Given the description of an element on the screen output the (x, y) to click on. 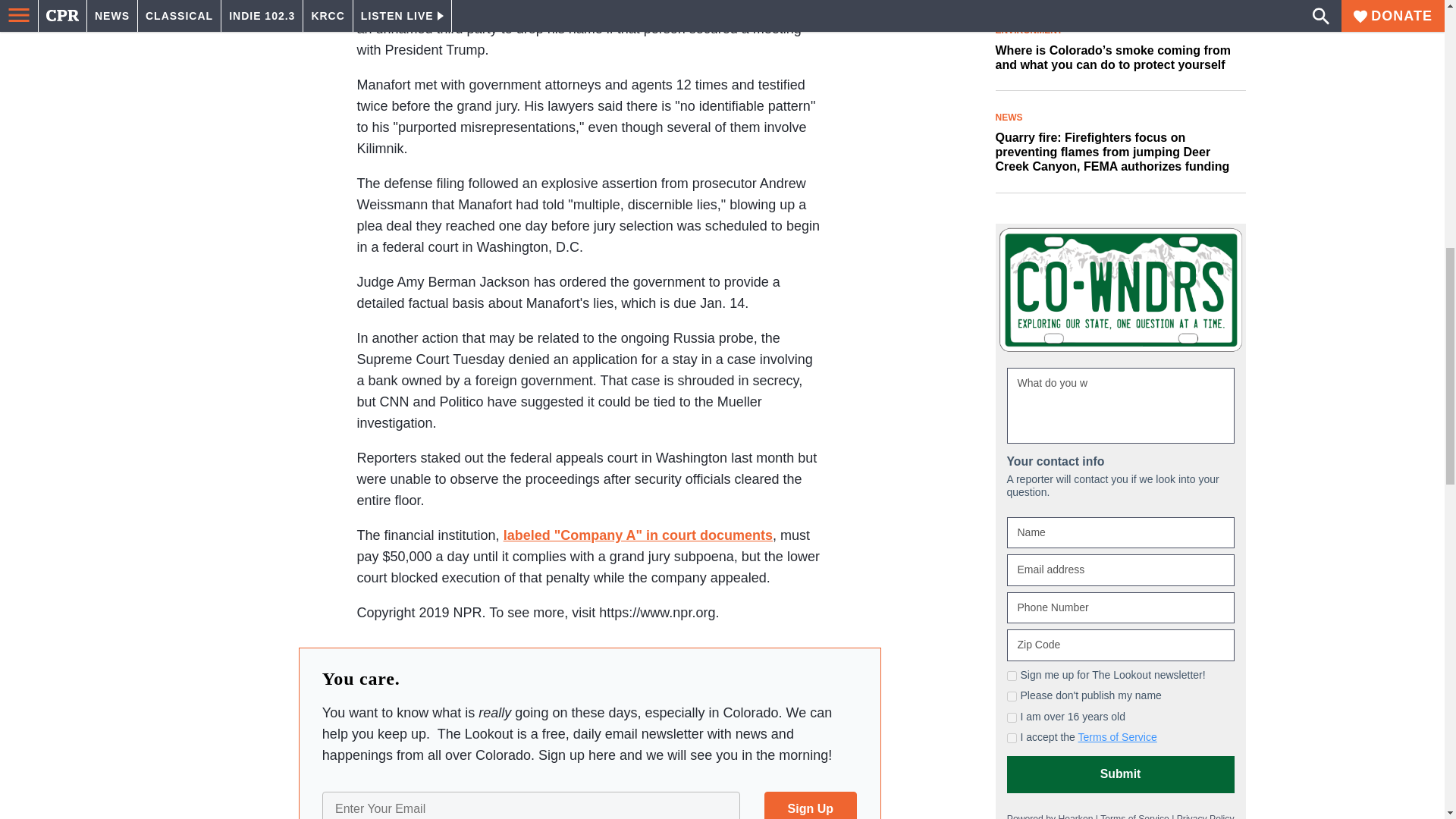
on (1011, 675)
newsArticleSignup (589, 792)
on (1011, 696)
on (1011, 717)
on (1011, 737)
